Given the description of an element on the screen output the (x, y) to click on. 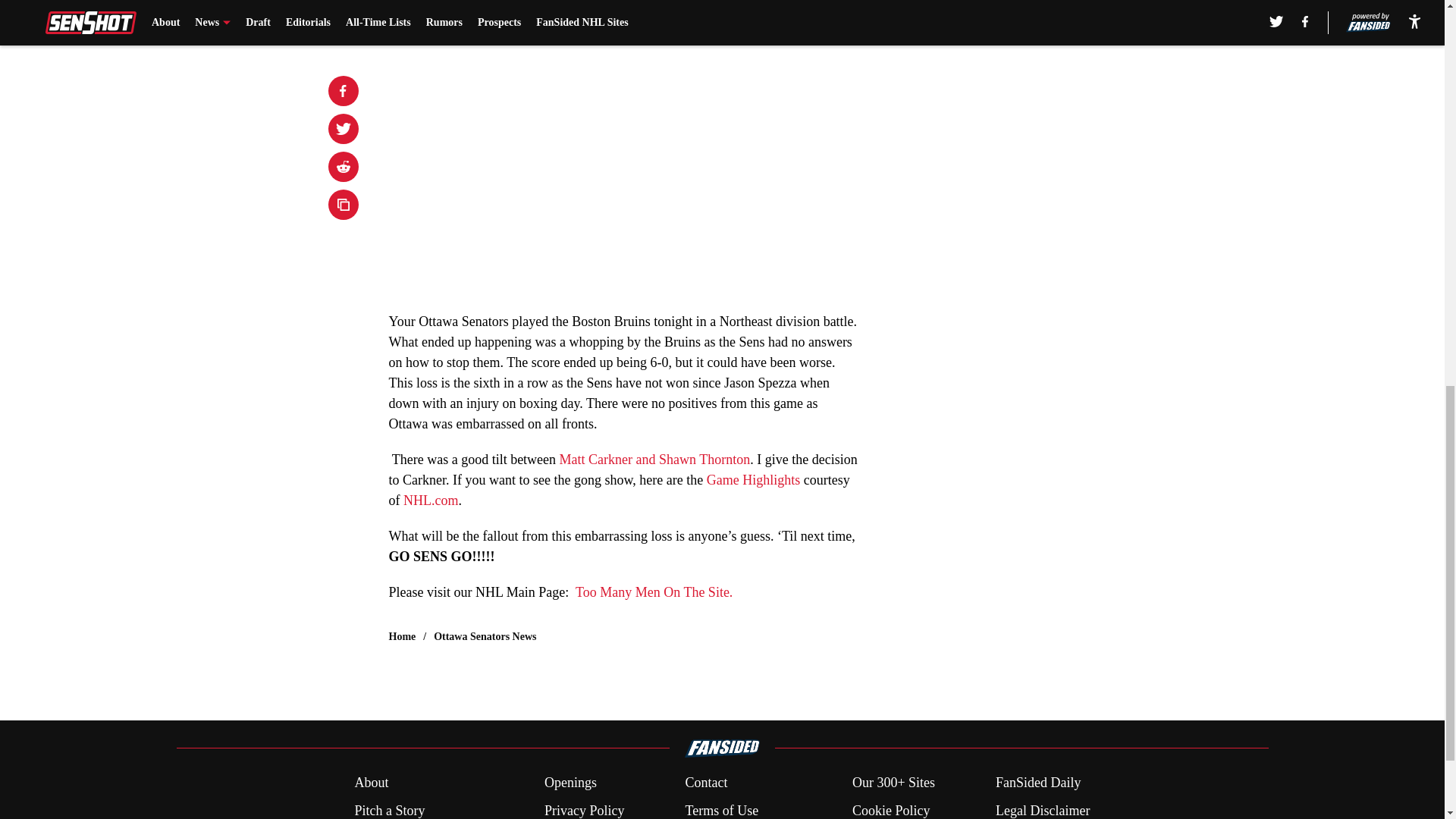
Matt Carkner and Shawn Thornton (655, 459)
Cookie Policy (890, 809)
FanSided Daily (1038, 783)
About (370, 783)
Too Many Men On The Site. (653, 591)
Privacy Policy (584, 809)
Home (401, 636)
Openings (570, 783)
NHL.com (430, 500)
Legal Disclaimer (1042, 809)
